Given the description of an element on the screen output the (x, y) to click on. 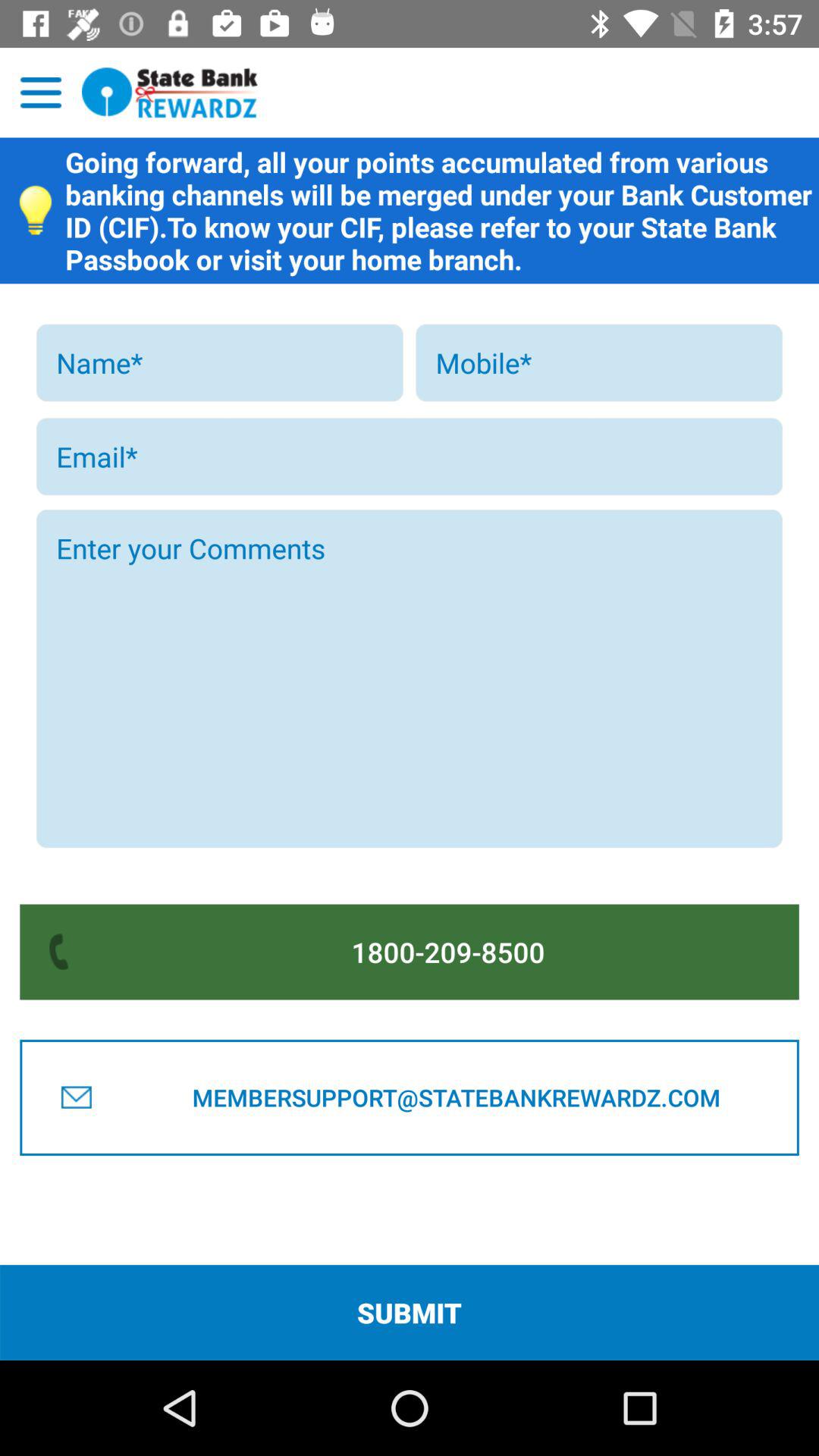
turn on the button below 1800-209-8500 item (455, 1097)
